Given the description of an element on the screen output the (x, y) to click on. 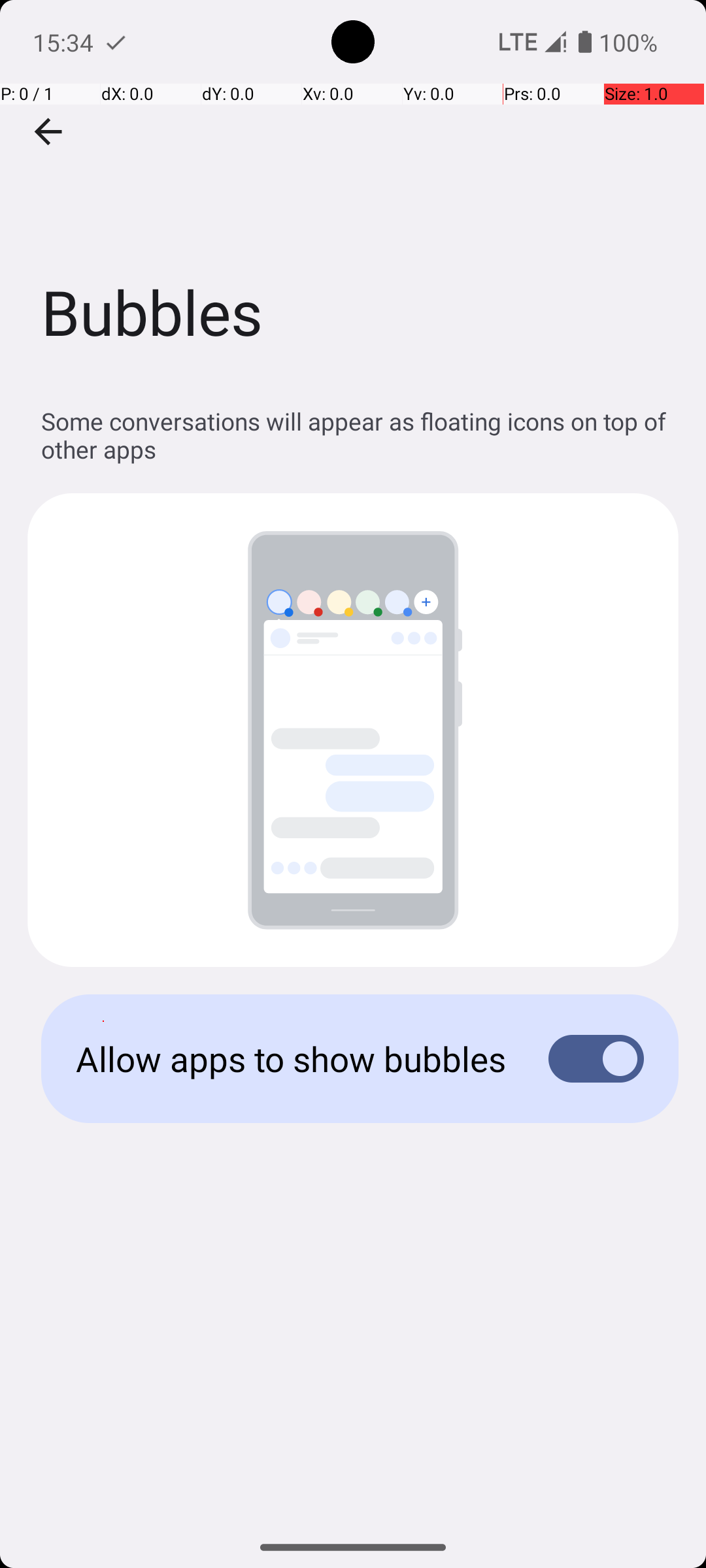
Some conversations will appear as floating icons on top of other apps Element type: android.widget.TextView (359, 434)
Allow apps to show bubbles Element type: android.widget.TextView (291, 1058)
